Given the description of an element on the screen output the (x, y) to click on. 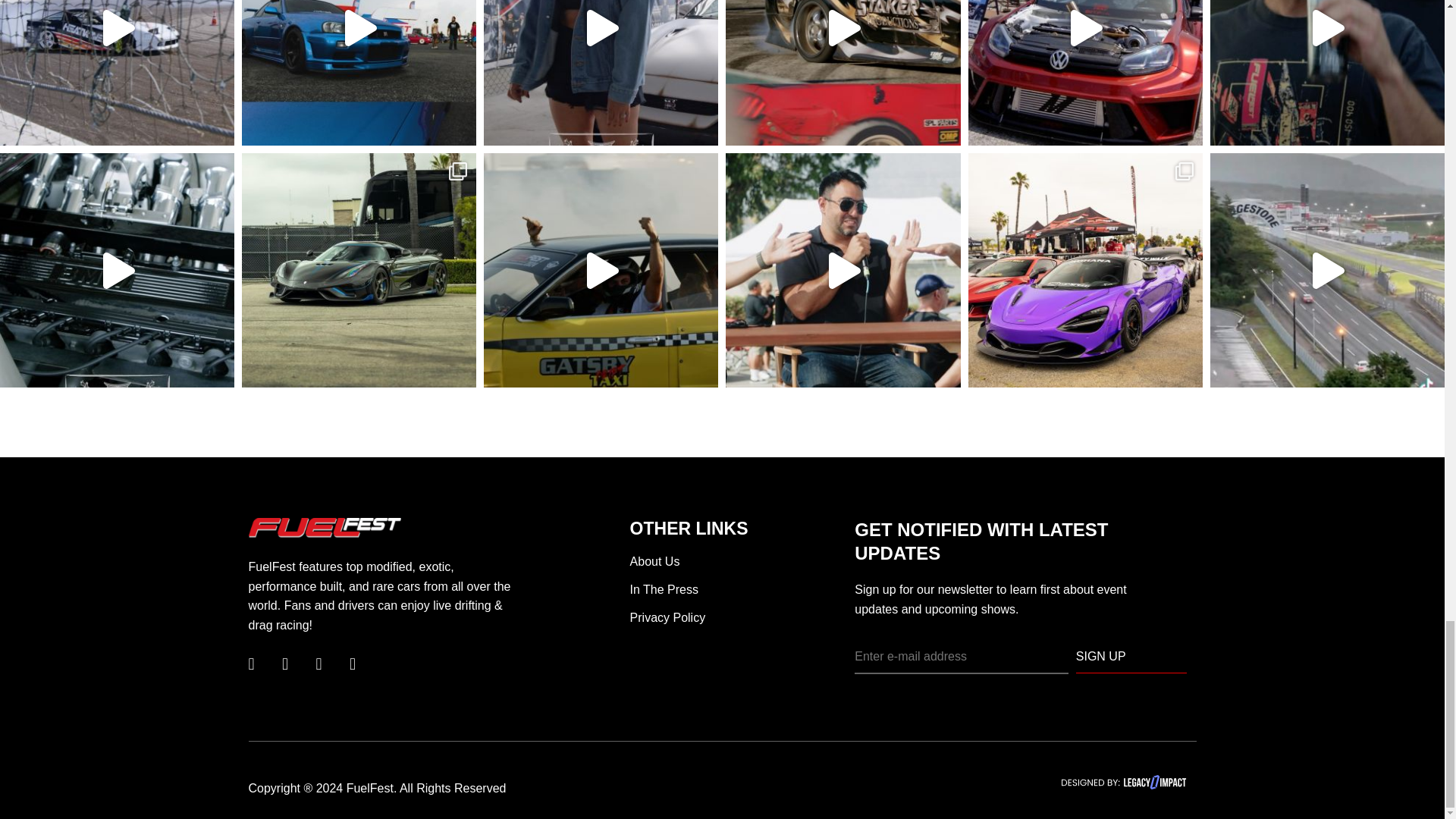
ff-footer (324, 527)
legacy-logo-footer (1123, 781)
